Given the description of an element on the screen output the (x, y) to click on. 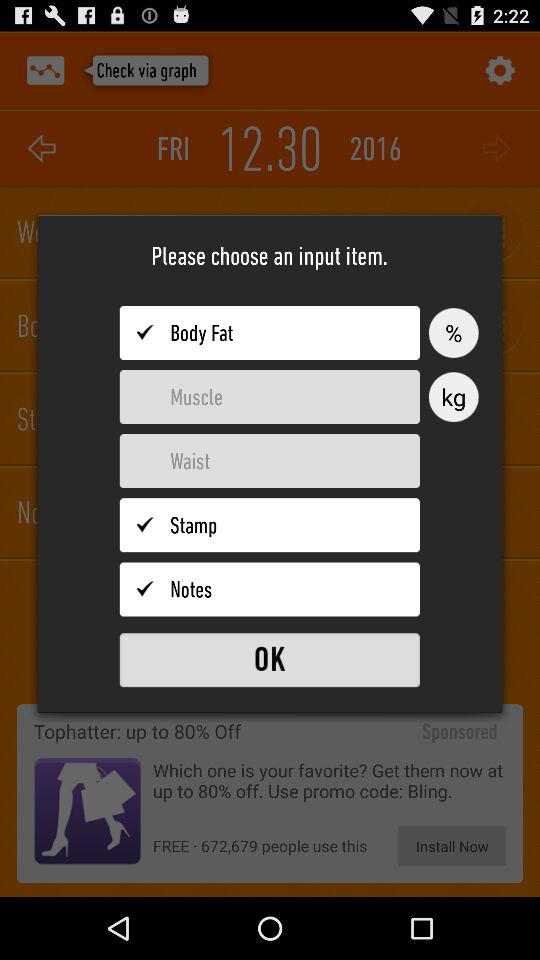
input muscle item (269, 397)
